Given the description of an element on the screen output the (x, y) to click on. 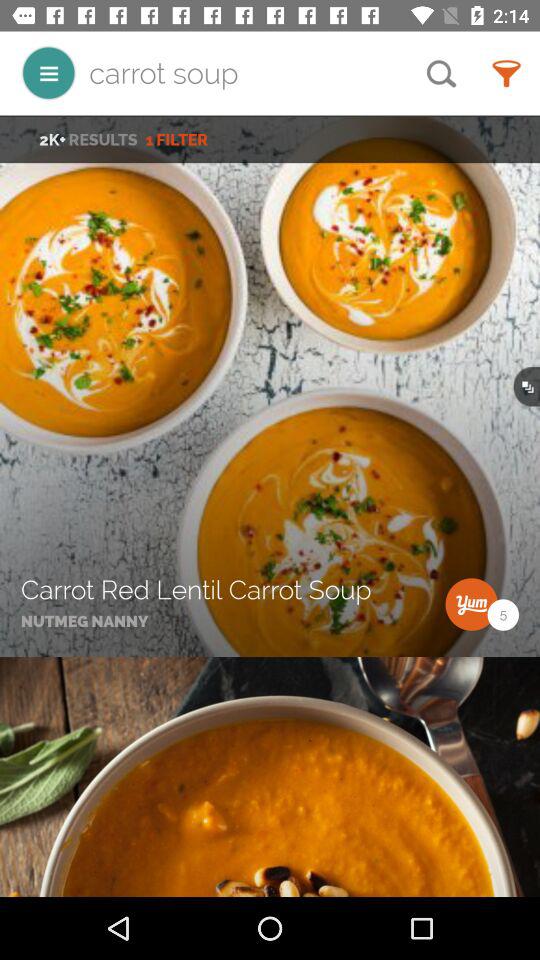
menu (48, 72)
